Given the description of an element on the screen output the (x, y) to click on. 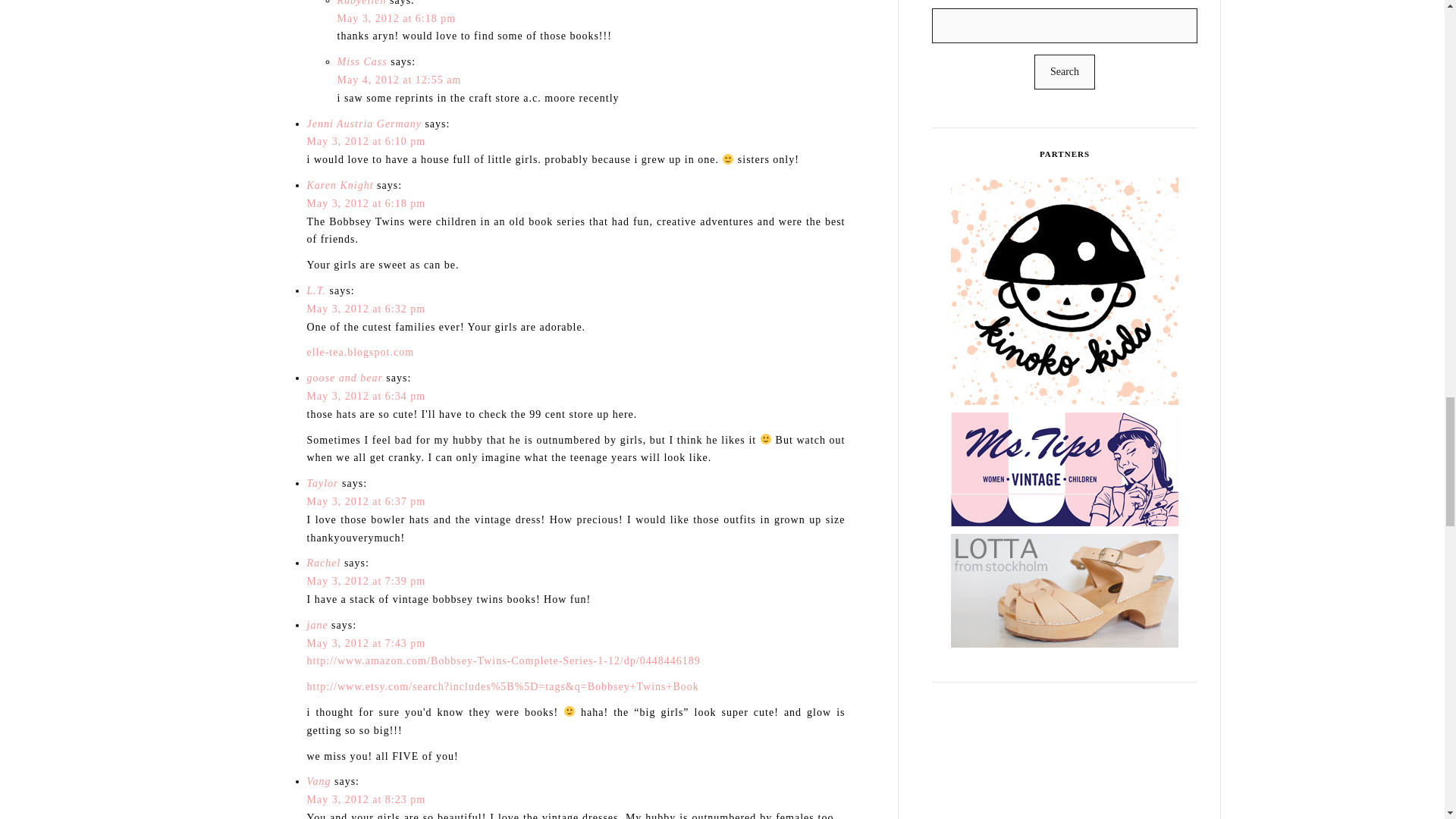
ms. tips (1082, 497)
Jenni Austria Germany (362, 123)
May 4, 2012 at 12:55 am (398, 79)
lotta by rubyellen, on Flickr (1082, 619)
Miss Cass (361, 61)
Search (1063, 71)
kinoko kids (1082, 348)
May 3, 2012 at 6:18 pm (395, 18)
Rubyellen (360, 2)
